Given the description of an element on the screen output the (x, y) to click on. 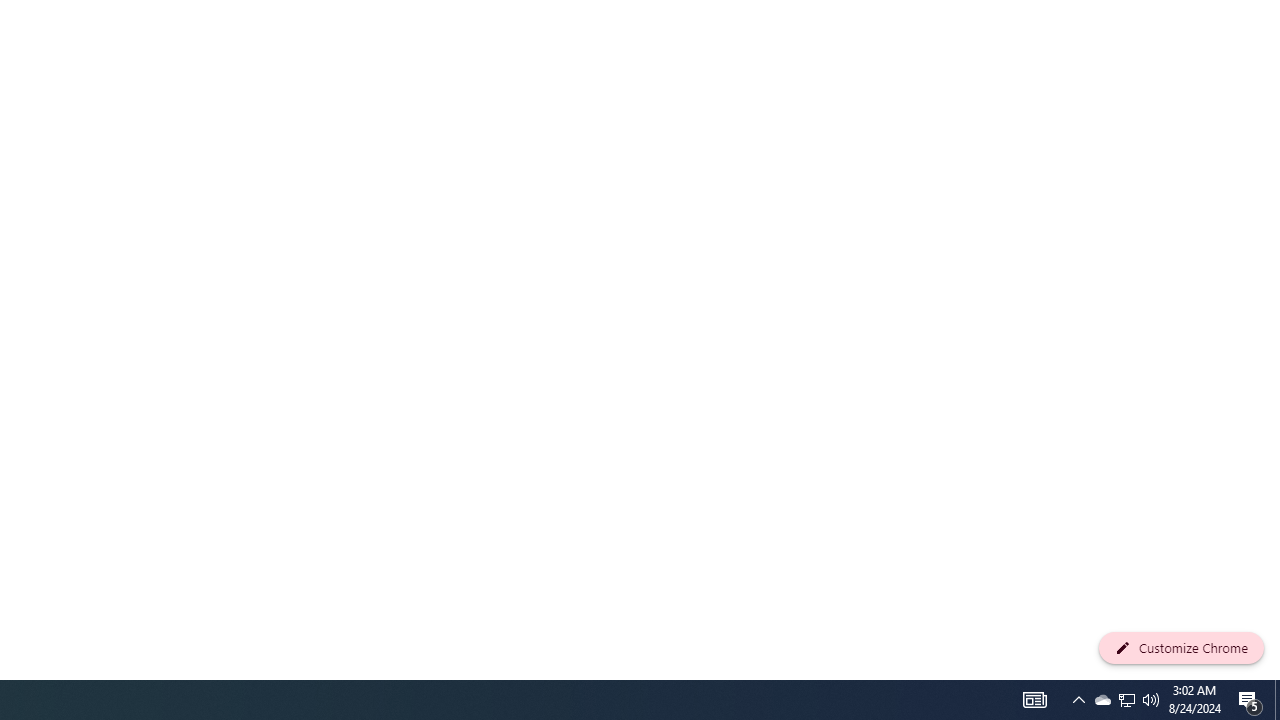
Customize Chrome (1181, 647)
